Given the description of an element on the screen output the (x, y) to click on. 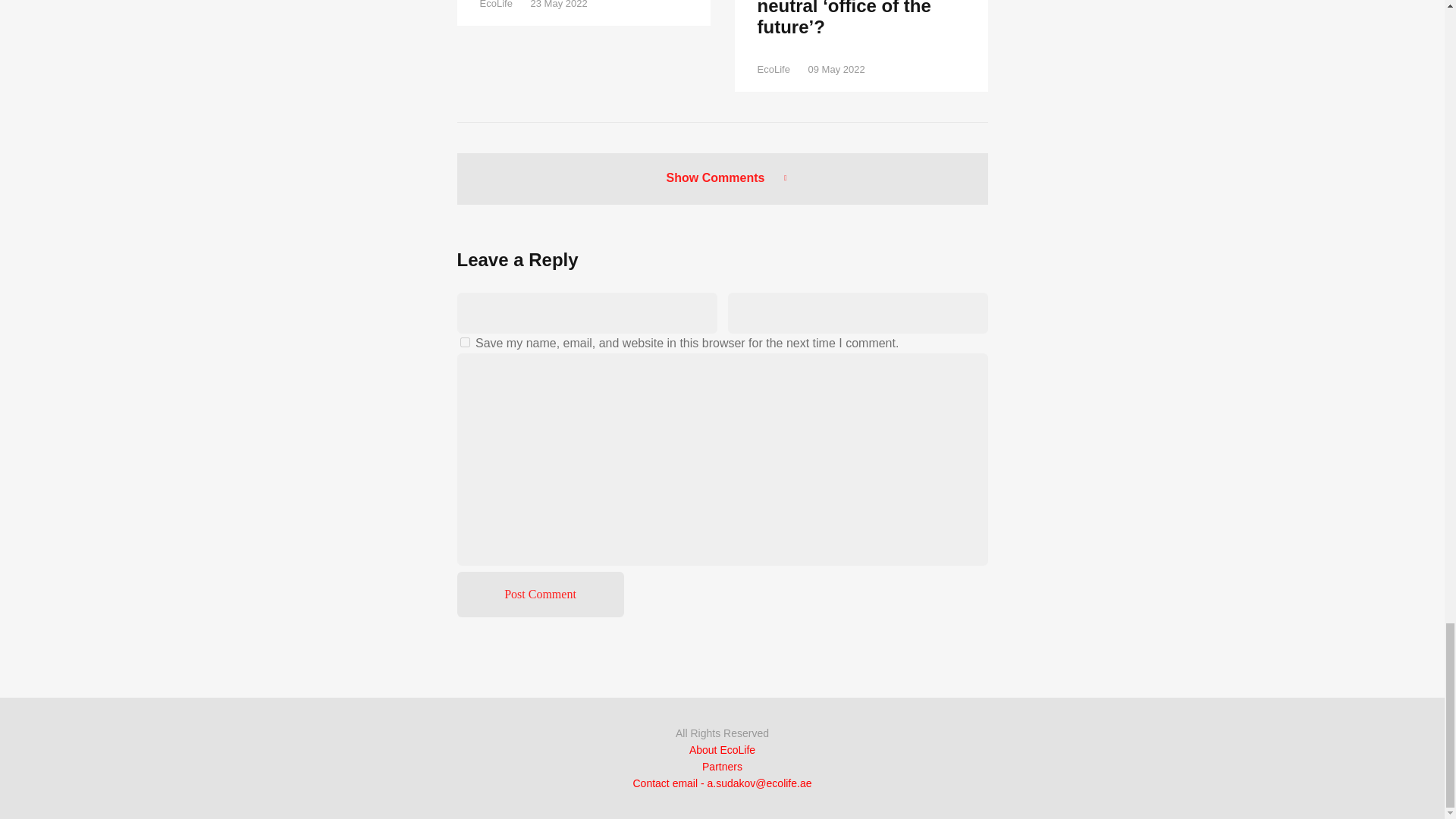
Posts by EcoLife (773, 69)
Posts by EcoLife (495, 4)
yes (464, 342)
Post Comment (540, 594)
